Given the description of an element on the screen output the (x, y) to click on. 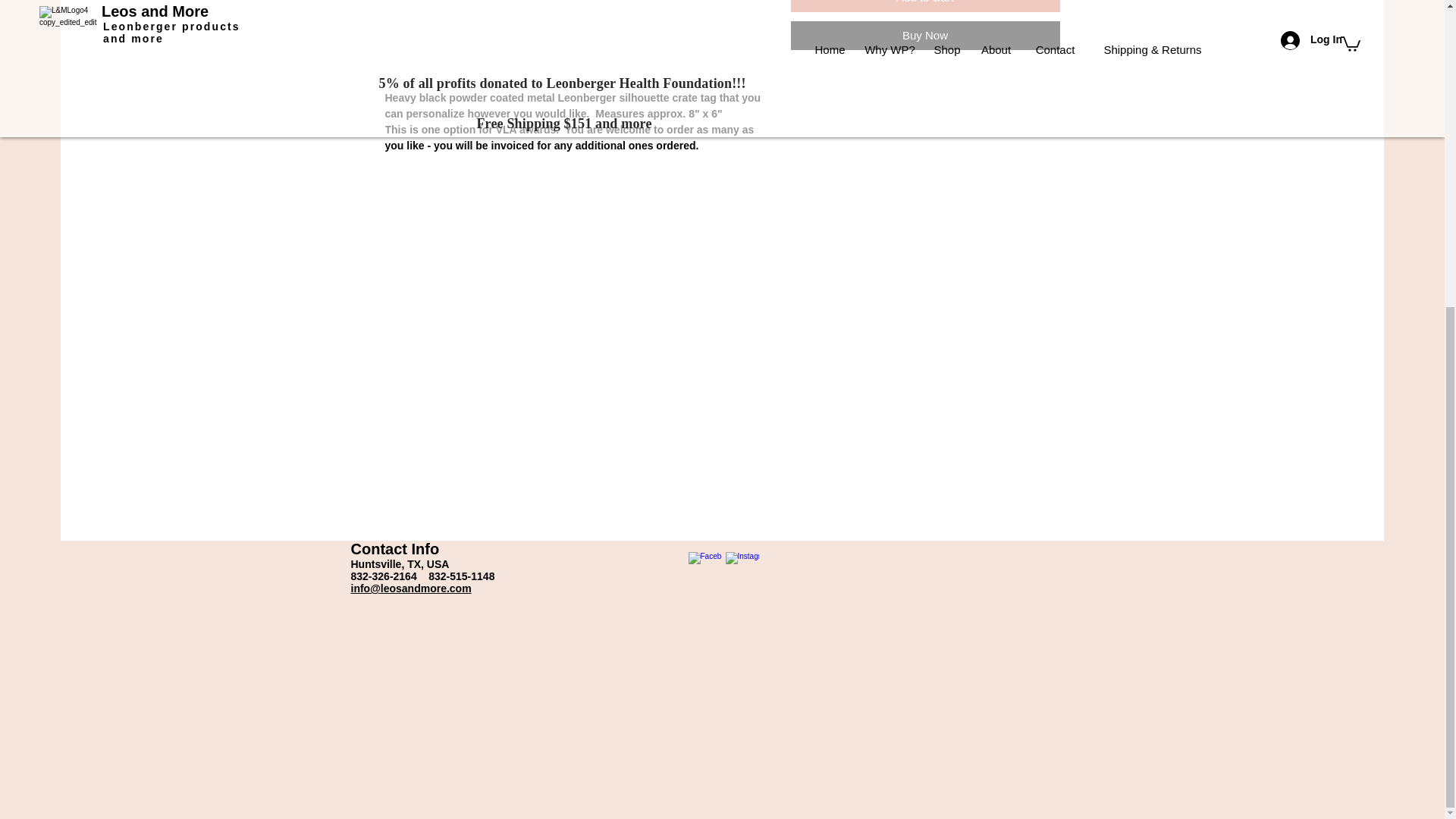
Add to Cart (924, 6)
